Given the description of an element on the screen output the (x, y) to click on. 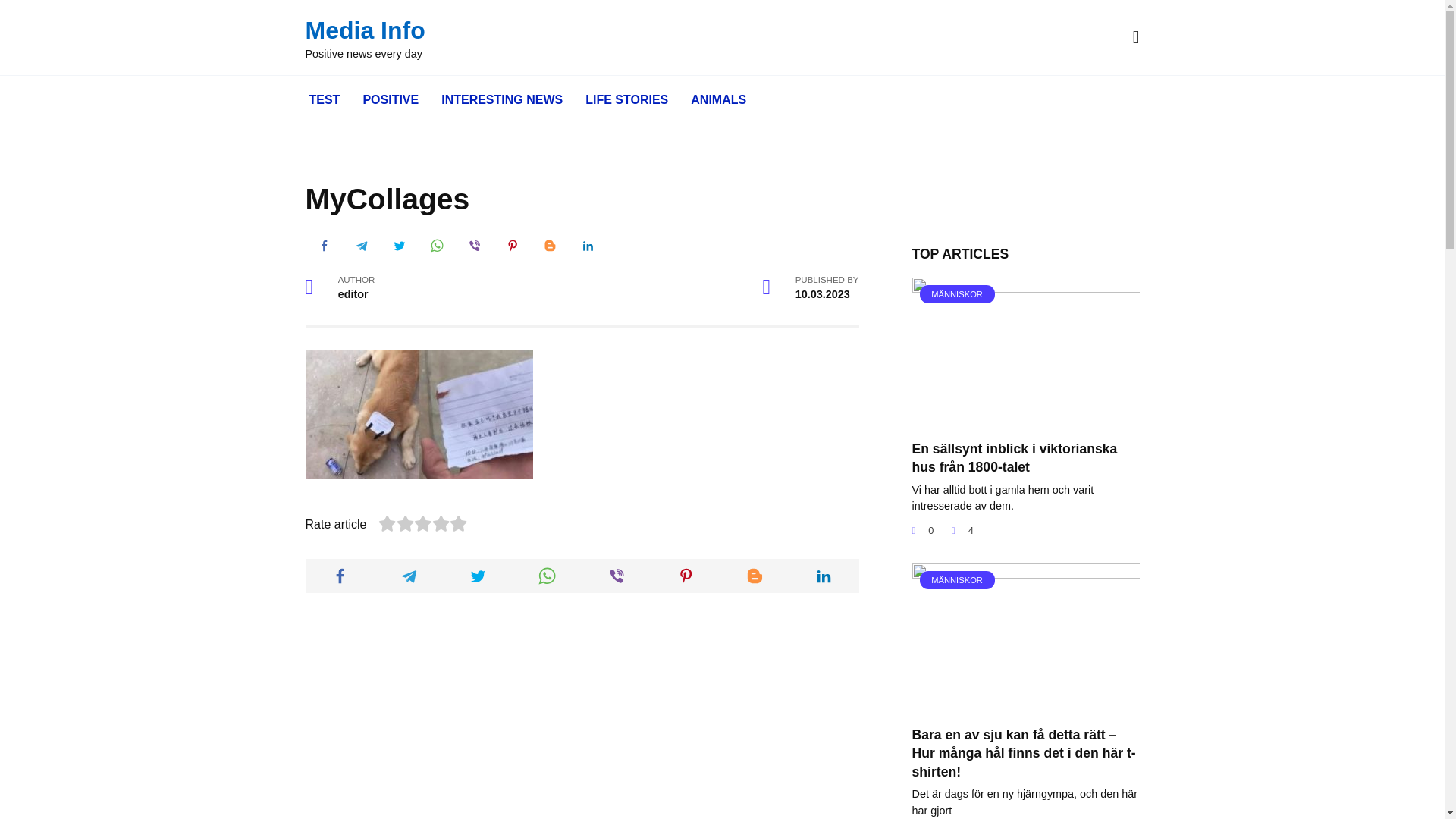
INTERESTING NEWS (501, 100)
LIFE STORIES (626, 100)
Media Info (364, 30)
TEST (323, 100)
POSITIVE (389, 100)
ANIMALS (718, 100)
